Given the description of an element on the screen output the (x, y) to click on. 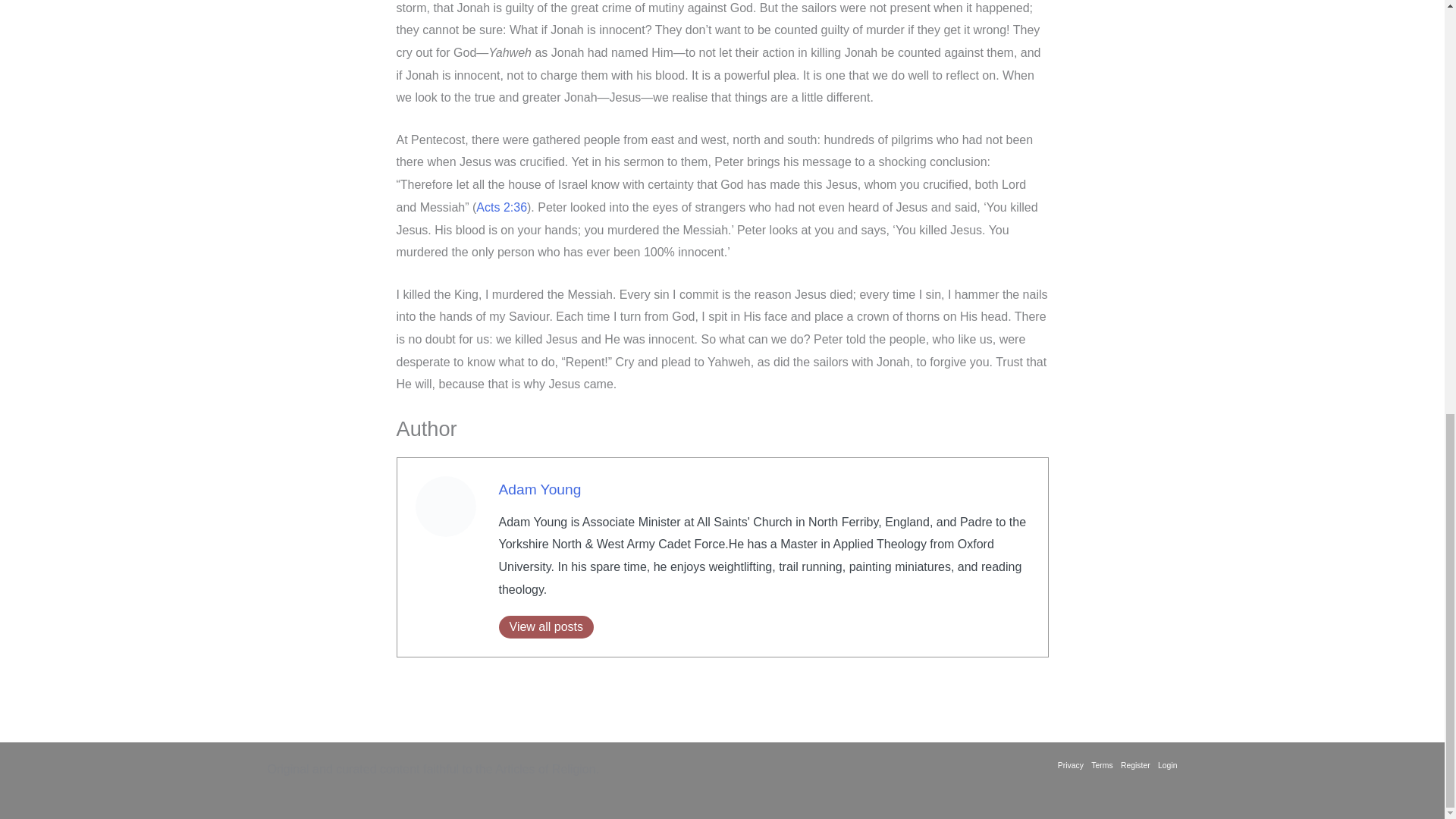
Adam Young (539, 489)
Adam Young (539, 489)
View all posts (546, 626)
Privacy (1072, 765)
Acts 2:36 (501, 206)
View all posts (546, 626)
